Given the description of an element on the screen output the (x, y) to click on. 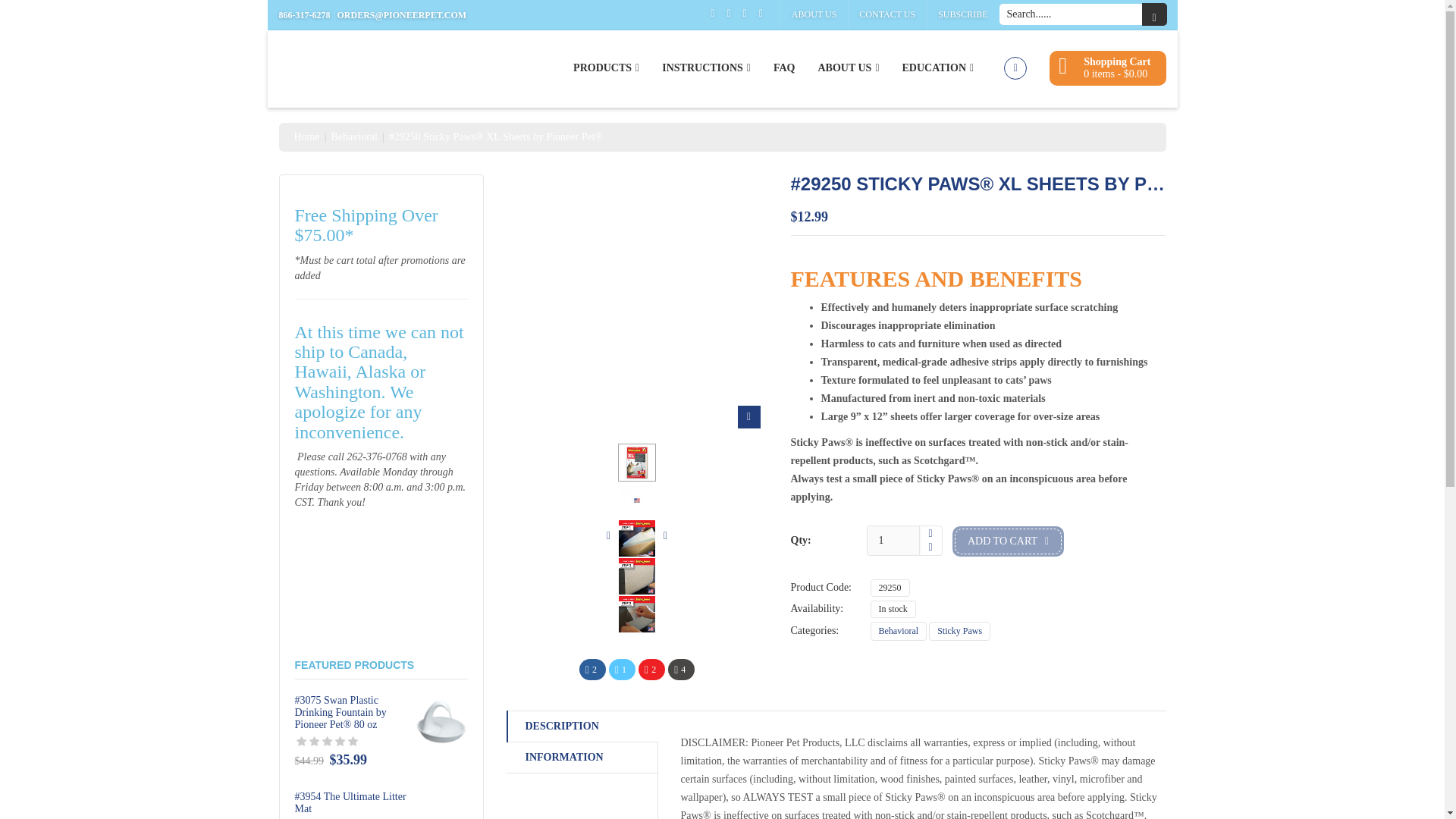
Made in USA (636, 500)
Email (681, 669)
Qty (894, 540)
INSTRUCTIONS (705, 68)
My Account (1015, 67)
1 (894, 540)
ABOUT US (813, 14)
Facebook (592, 669)
FAQ (783, 68)
Search...... (1070, 14)
